Given the description of an element on the screen output the (x, y) to click on. 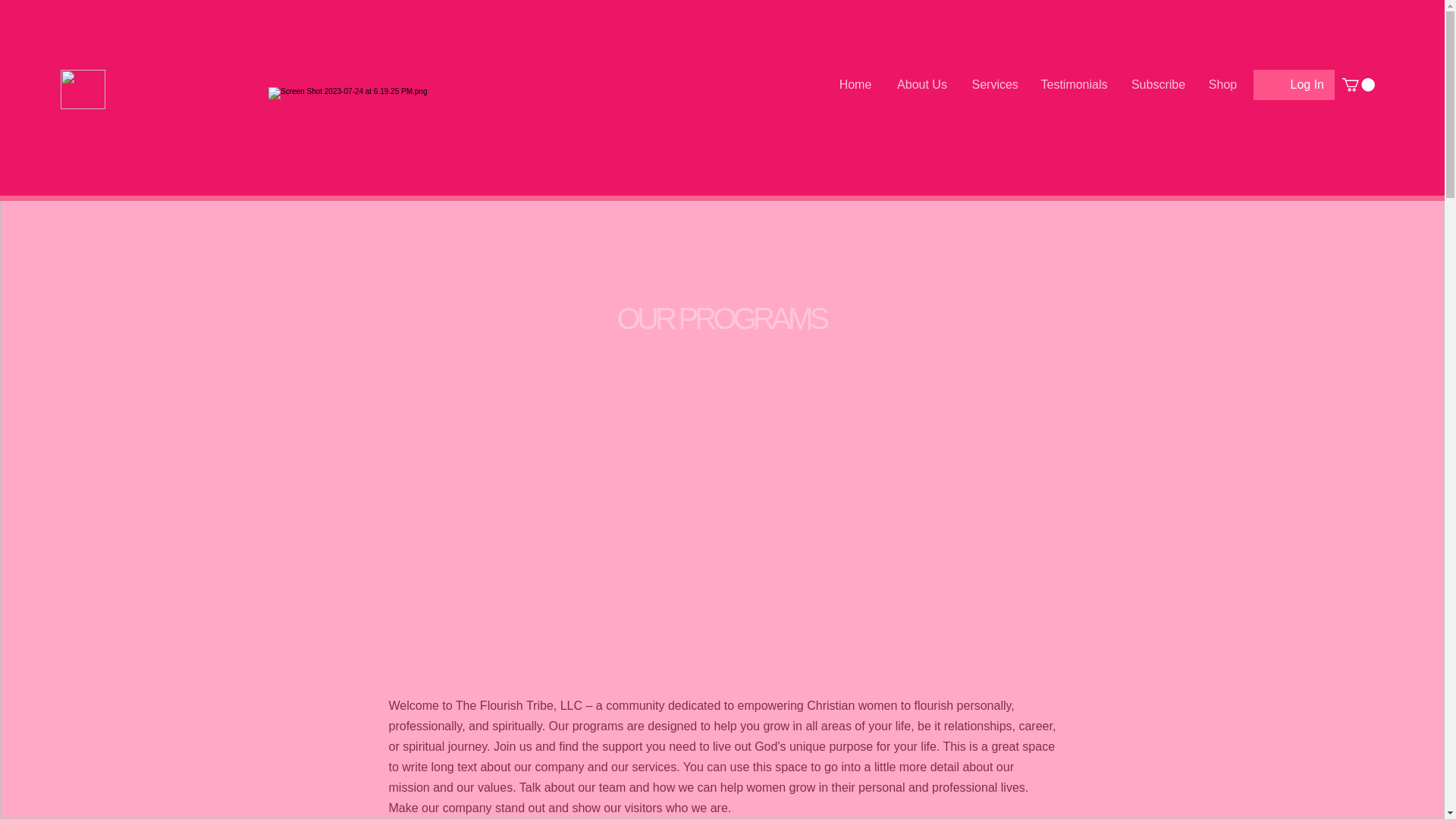
About Us (921, 85)
Testimonials (1073, 85)
Services (993, 85)
Home (855, 85)
Shop (1221, 85)
Log In (1307, 84)
Subscribe (1157, 85)
